Given the description of an element on the screen output the (x, y) to click on. 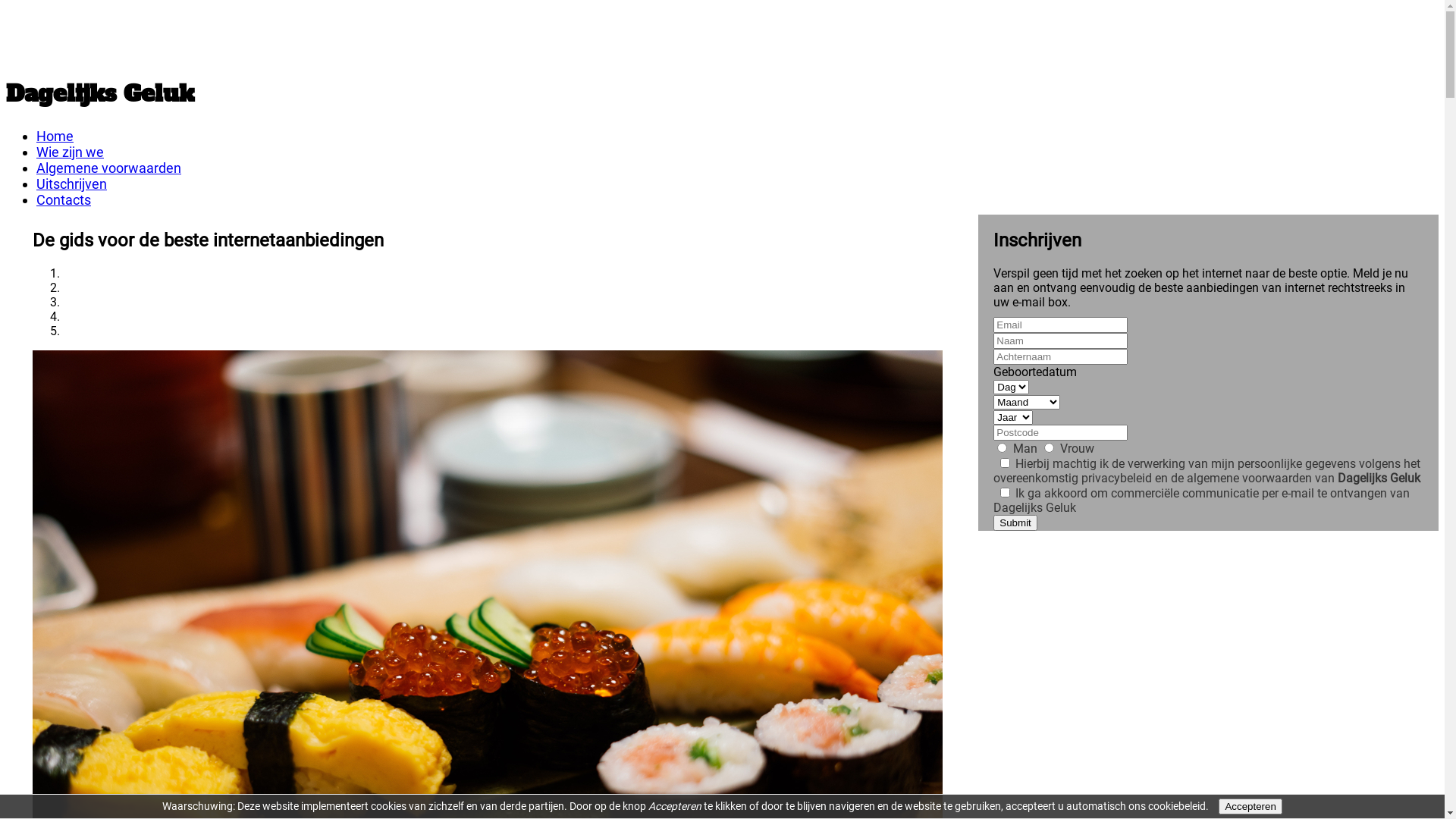
Contacts Element type: text (63, 199)
Algemene voorwaarden Element type: text (108, 167)
Submit Element type: text (1014, 522)
Wie zijn we Element type: text (69, 152)
Home Element type: text (54, 136)
Uitschrijven Element type: text (71, 183)
Accepteren Element type: text (1249, 806)
